Given the description of an element on the screen output the (x, y) to click on. 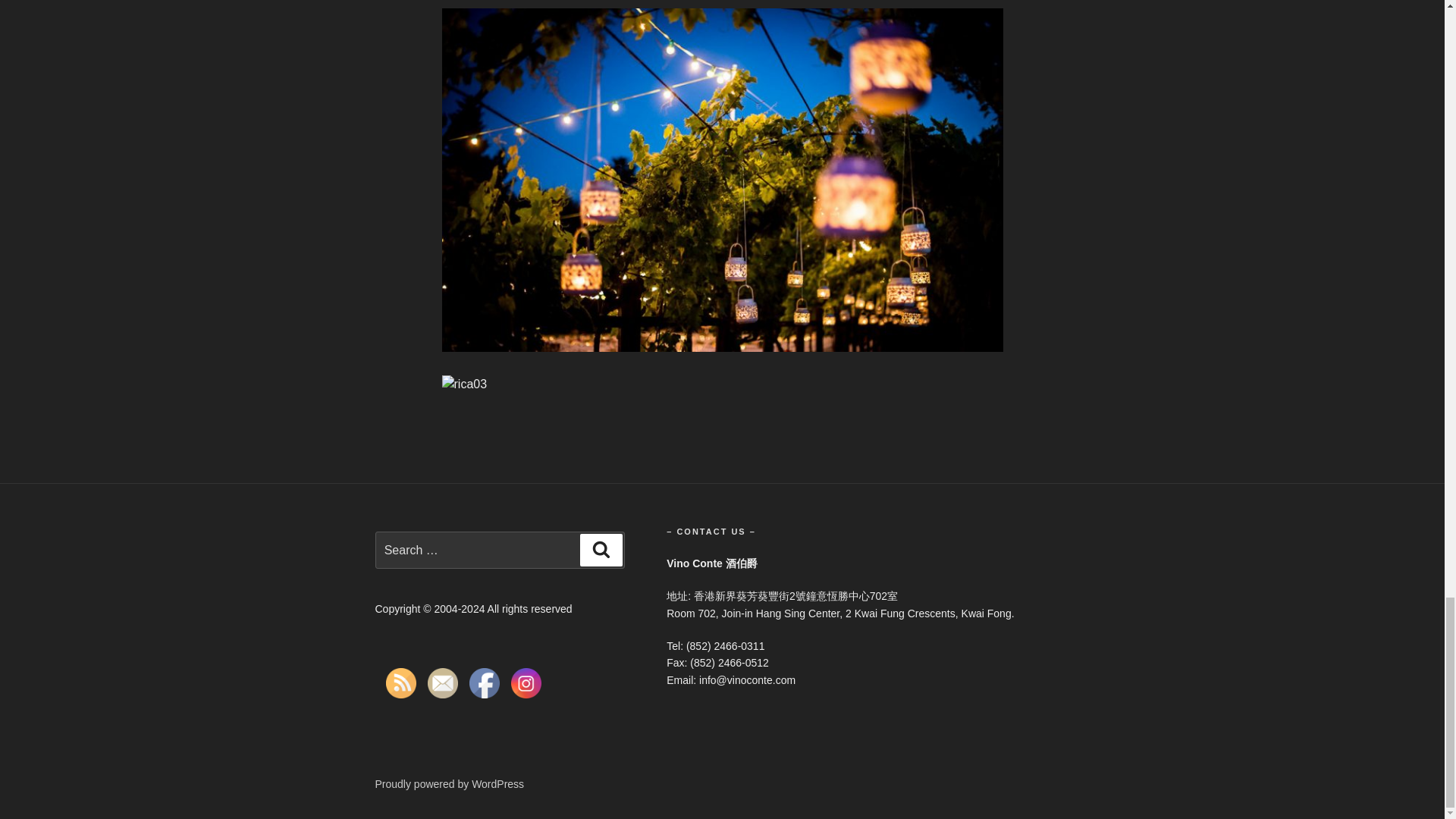
Facebook (483, 683)
RSS (399, 683)
Instagram (526, 683)
Follow by Email (443, 683)
